Given the description of an element on the screen output the (x, y) to click on. 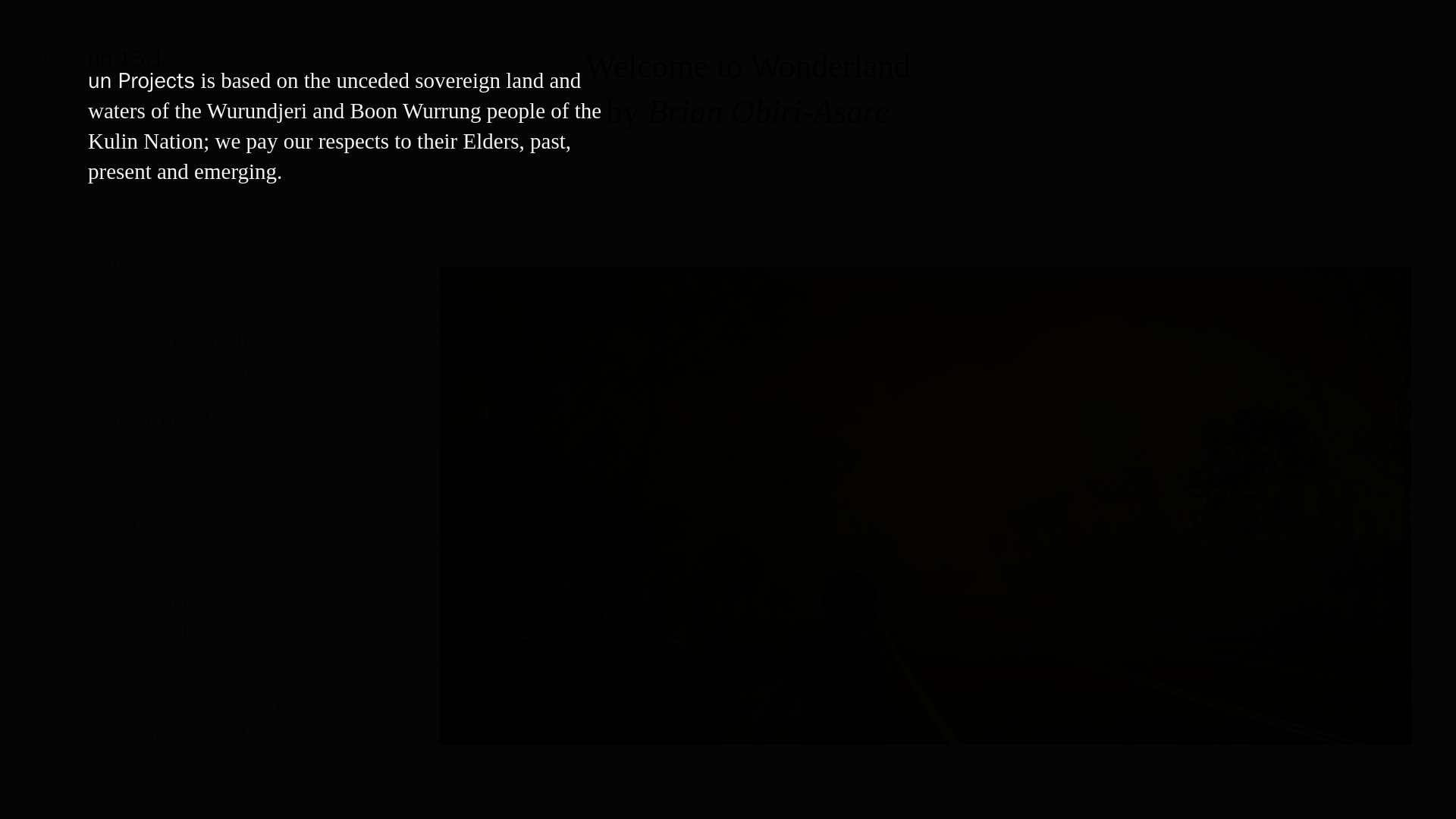
Brian Obiri-Asare (197, 289)
Posts by Brian Obiri-Asare (197, 366)
